Given the description of an element on the screen output the (x, y) to click on. 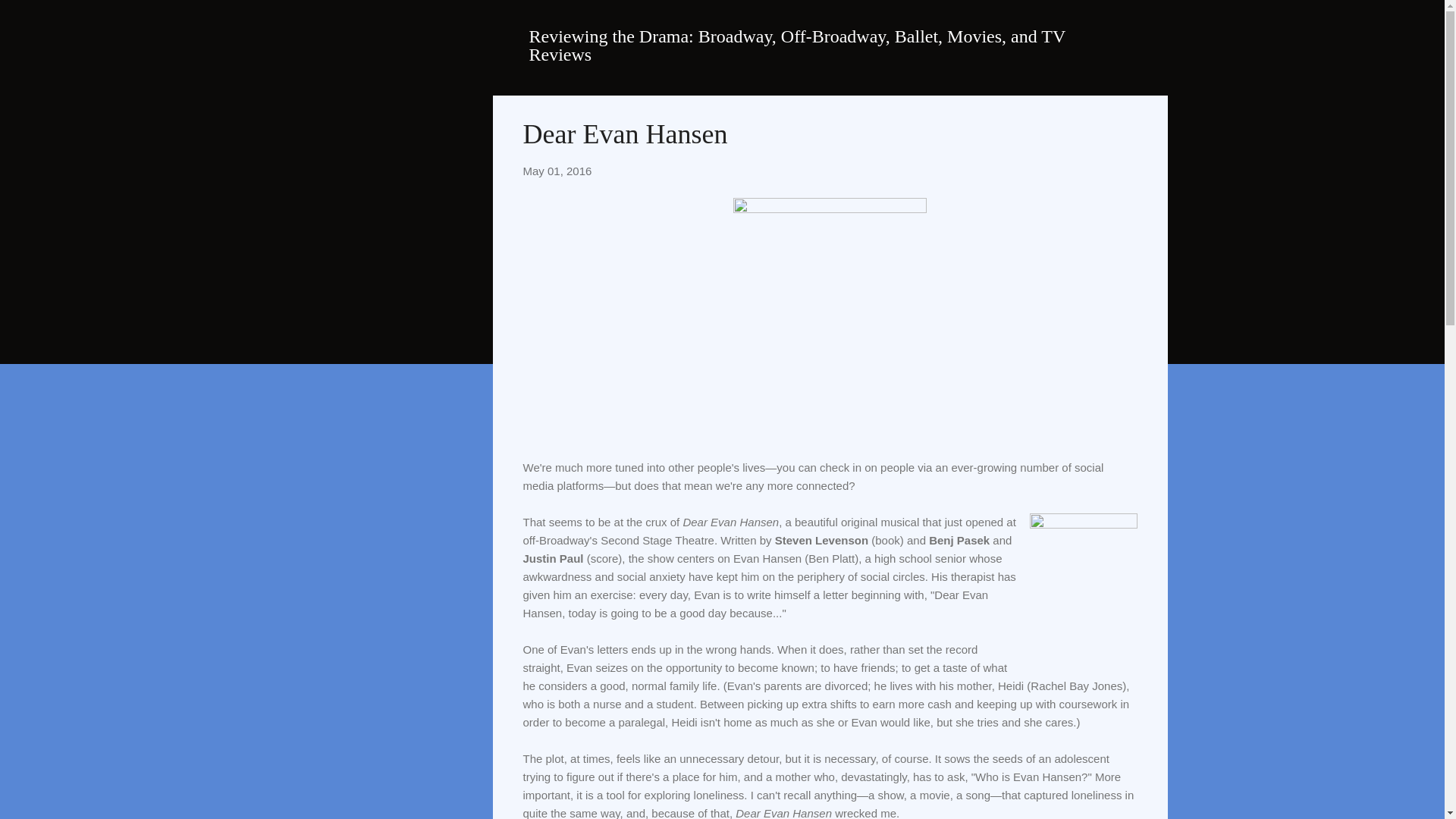
Search (29, 18)
May 01, 2016 (557, 170)
permanent link (557, 170)
